Given the description of an element on the screen output the (x, y) to click on. 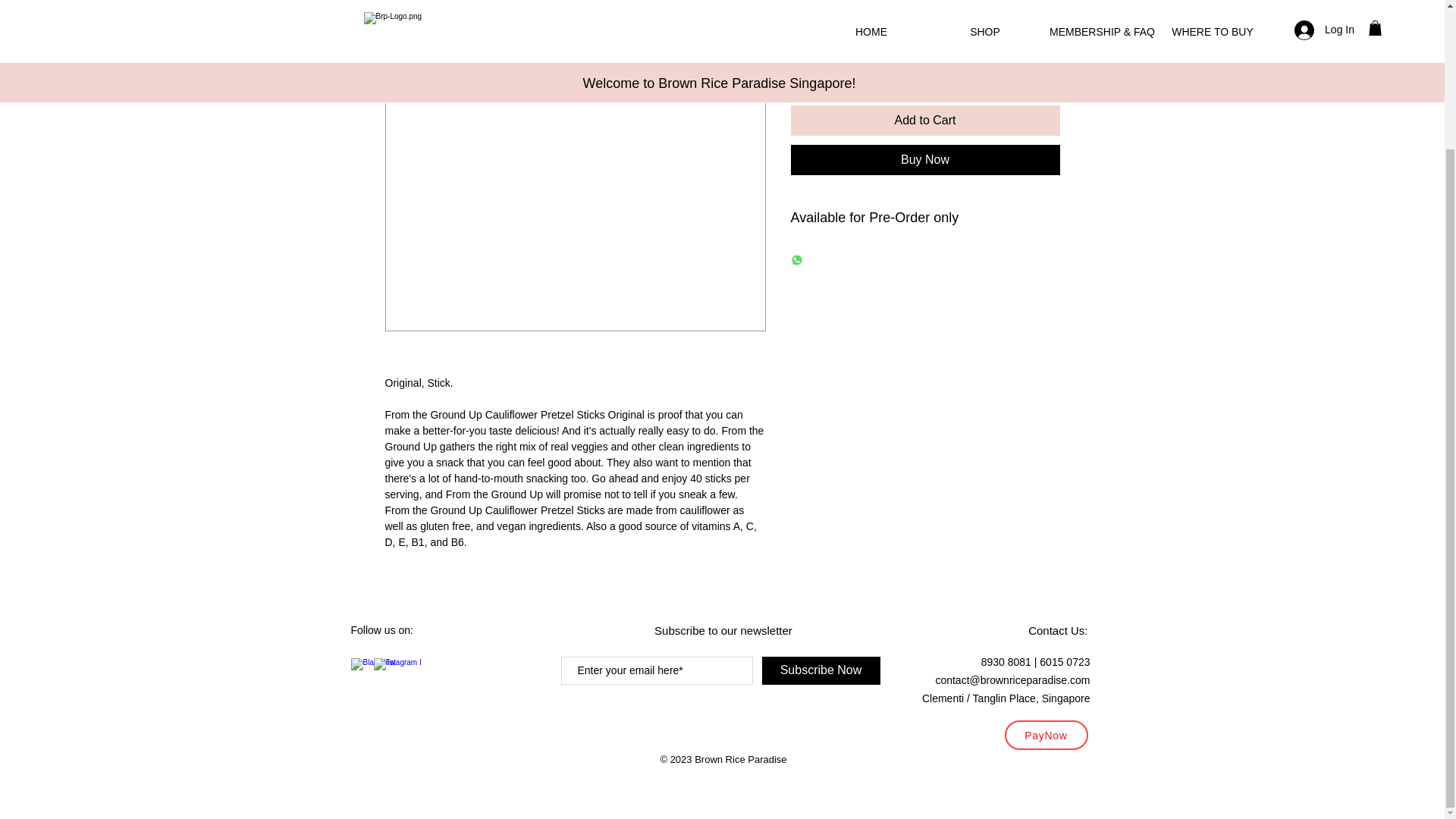
Add to Cart (924, 120)
PayNow (1045, 735)
Buy Now (924, 159)
1 (818, 65)
Subscribe Now (820, 670)
